Given the description of an element on the screen output the (x, y) to click on. 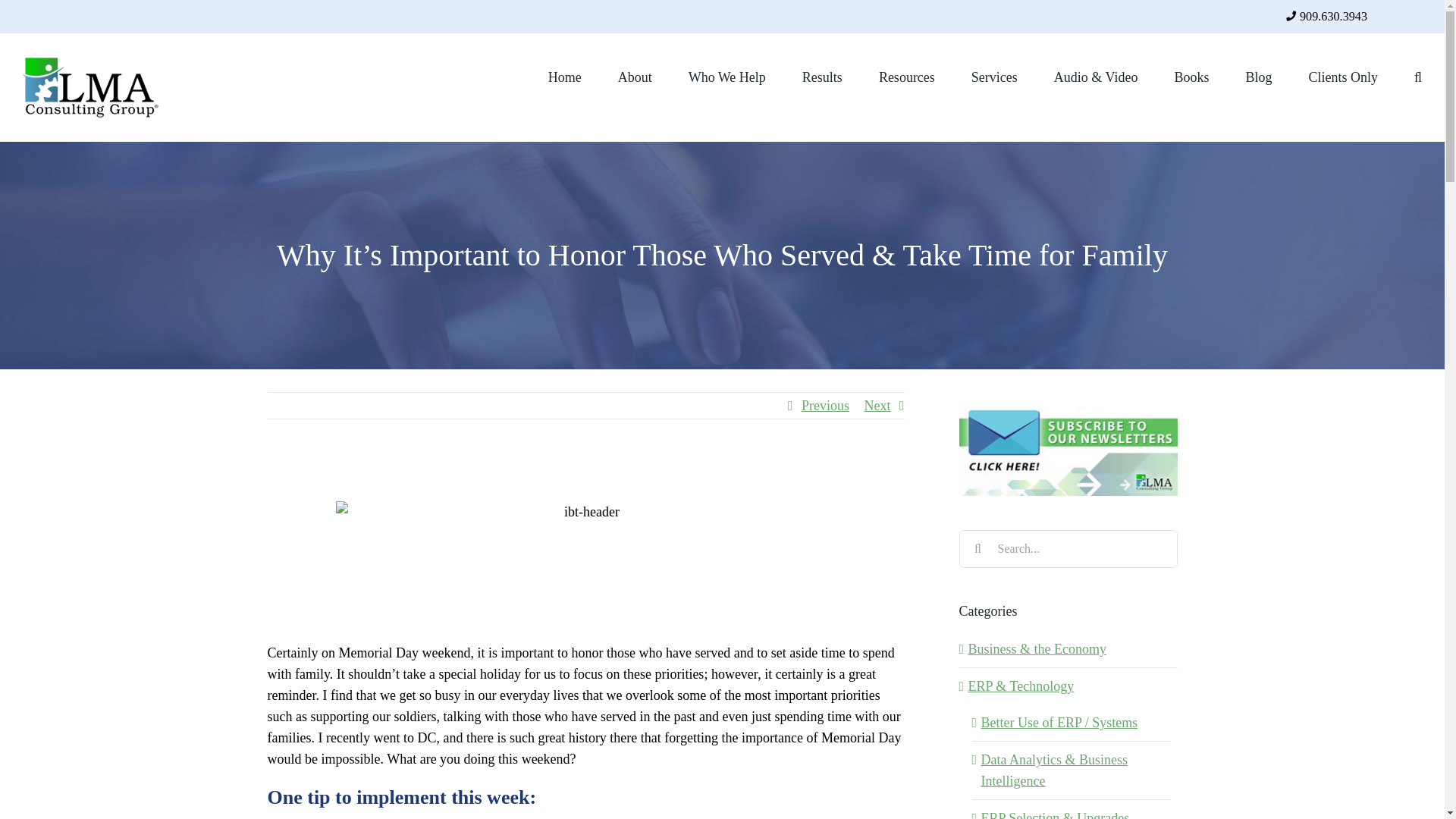
909.630.3943 (1333, 16)
Next (877, 405)
Who We Help (726, 75)
Previous (825, 405)
